Given the description of an element on the screen output the (x, y) to click on. 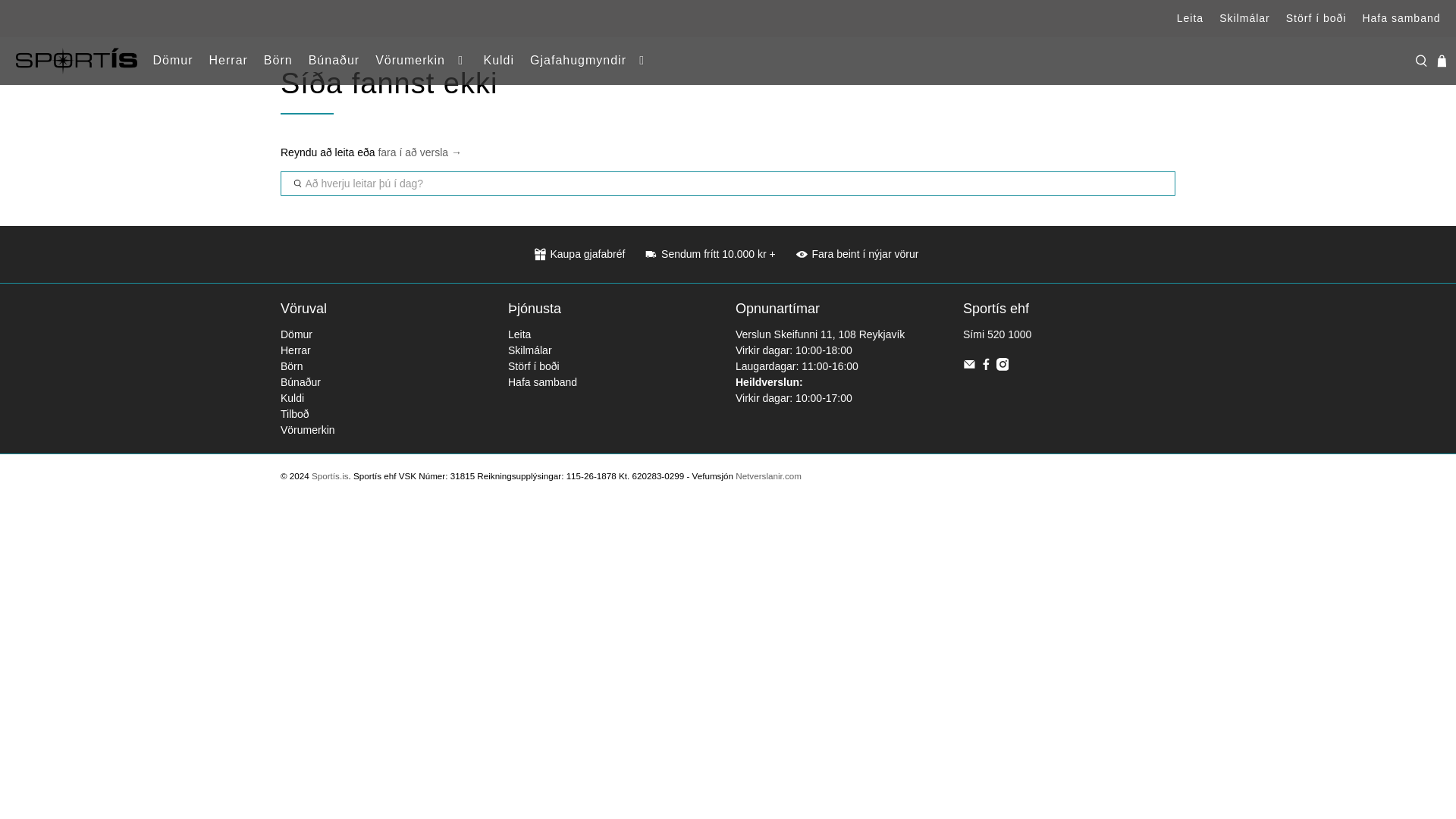
tel:520 1000 (1008, 334)
Hafa samband (1401, 18)
Leita (1190, 18)
Herrar (228, 60)
